Given the description of an element on the screen output the (x, y) to click on. 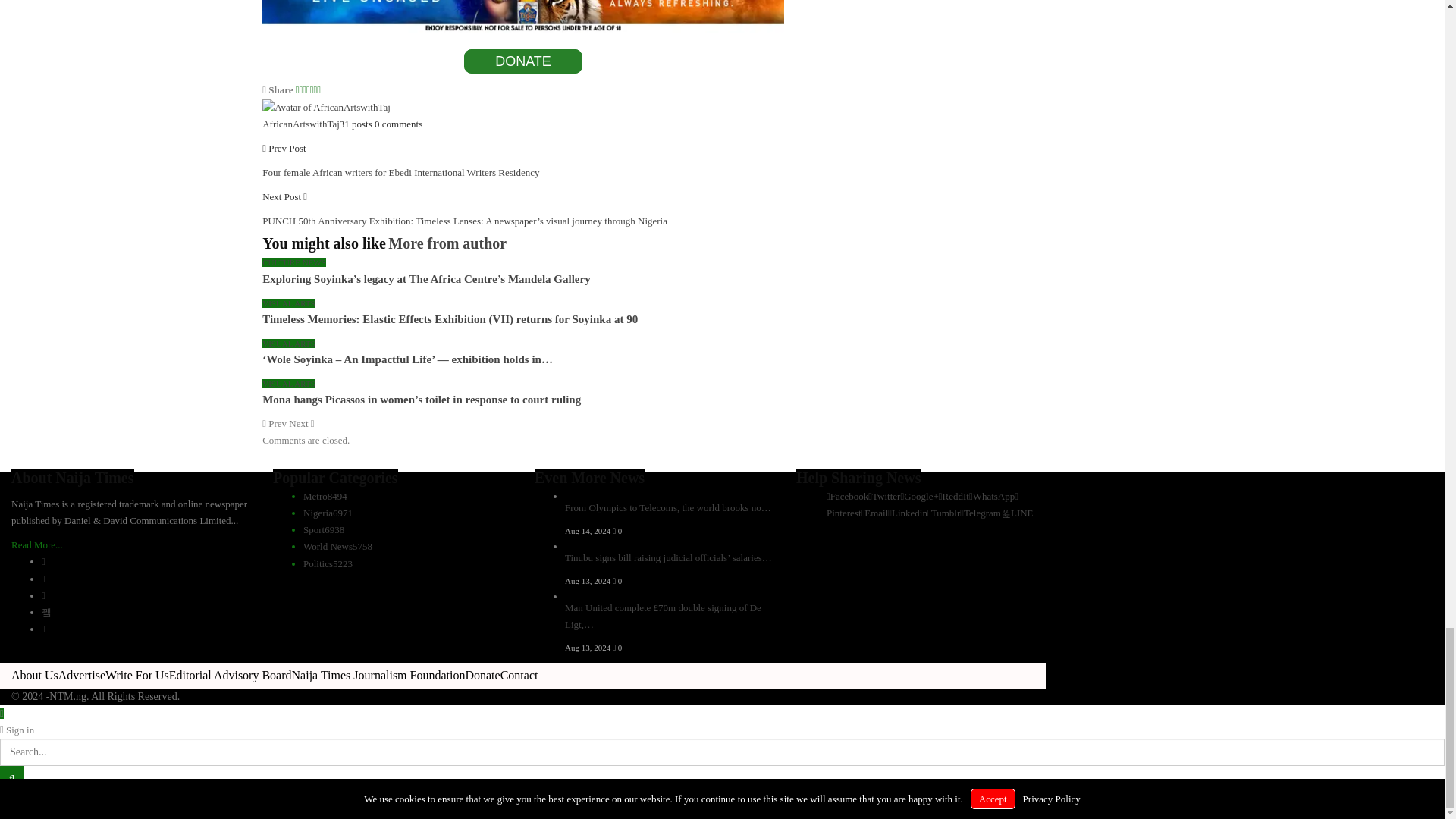
Next (301, 423)
Browse Author Articles (326, 106)
Previous (275, 423)
